Given the description of an element on the screen output the (x, y) to click on. 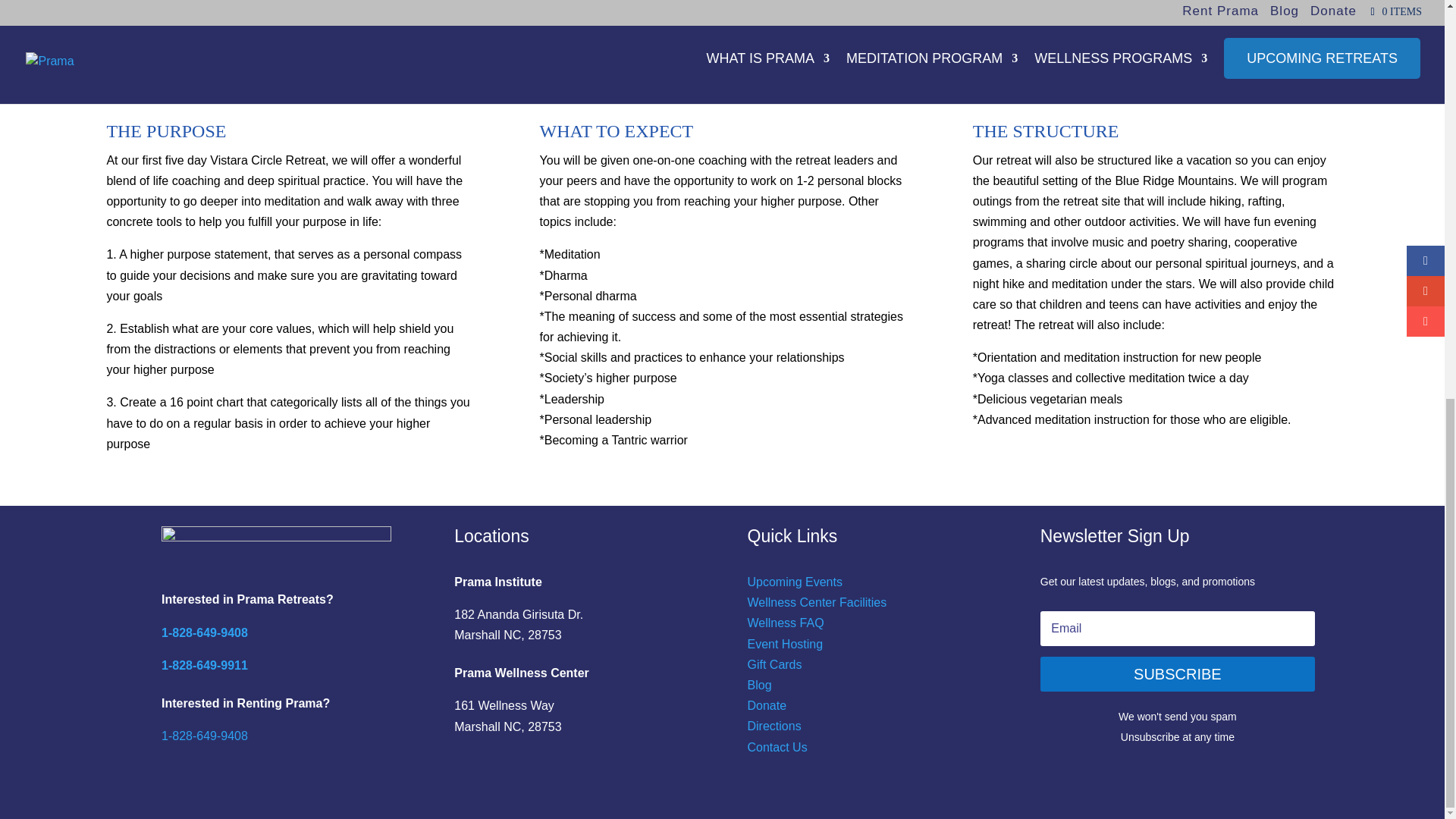
Blog (759, 684)
1-828-649-9911 (204, 665)
Wellness FAQ (786, 622)
Directions (775, 725)
Wellness Center Facilities (817, 602)
1-828-649-9408 (204, 735)
1-828-649-9408 (204, 632)
Gift Cards (775, 664)
Event Hosting (786, 644)
prama-logolastnew (276, 549)
